Given the description of an element on the screen output the (x, y) to click on. 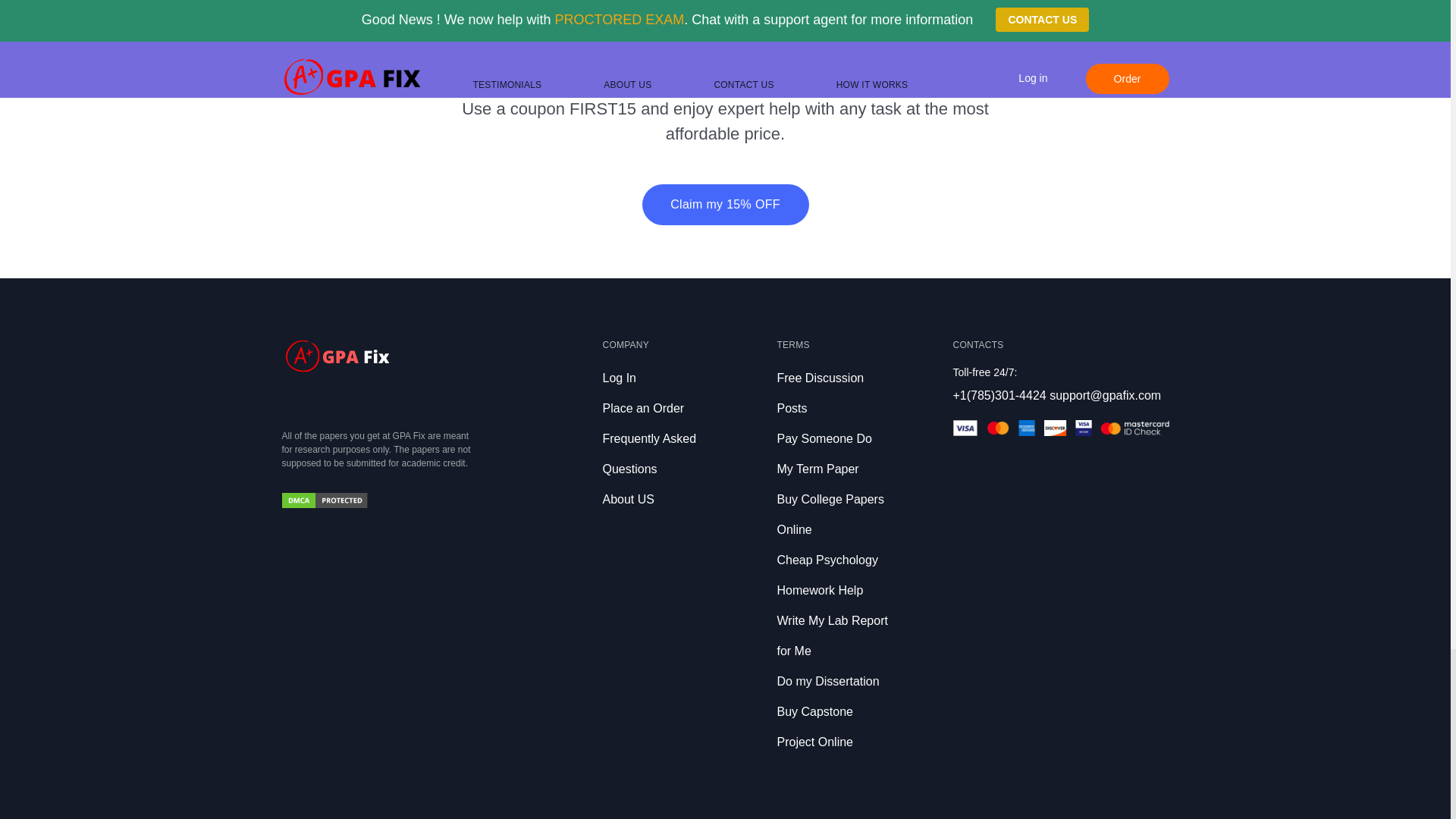
Frequently Asked Questions (648, 453)
Cheap Psychology Homework Help (826, 575)
Do my Dissertation (827, 680)
Pay Someone Do My Term Paper (823, 453)
Write My Lab Report for Me (831, 635)
Place an Order (643, 408)
Buy Capstone Project Online (814, 726)
Free Discussion Posts (819, 392)
Buy College Papers Online (829, 514)
About US (627, 499)
Log In (618, 377)
